Given the description of an element on the screen output the (x, y) to click on. 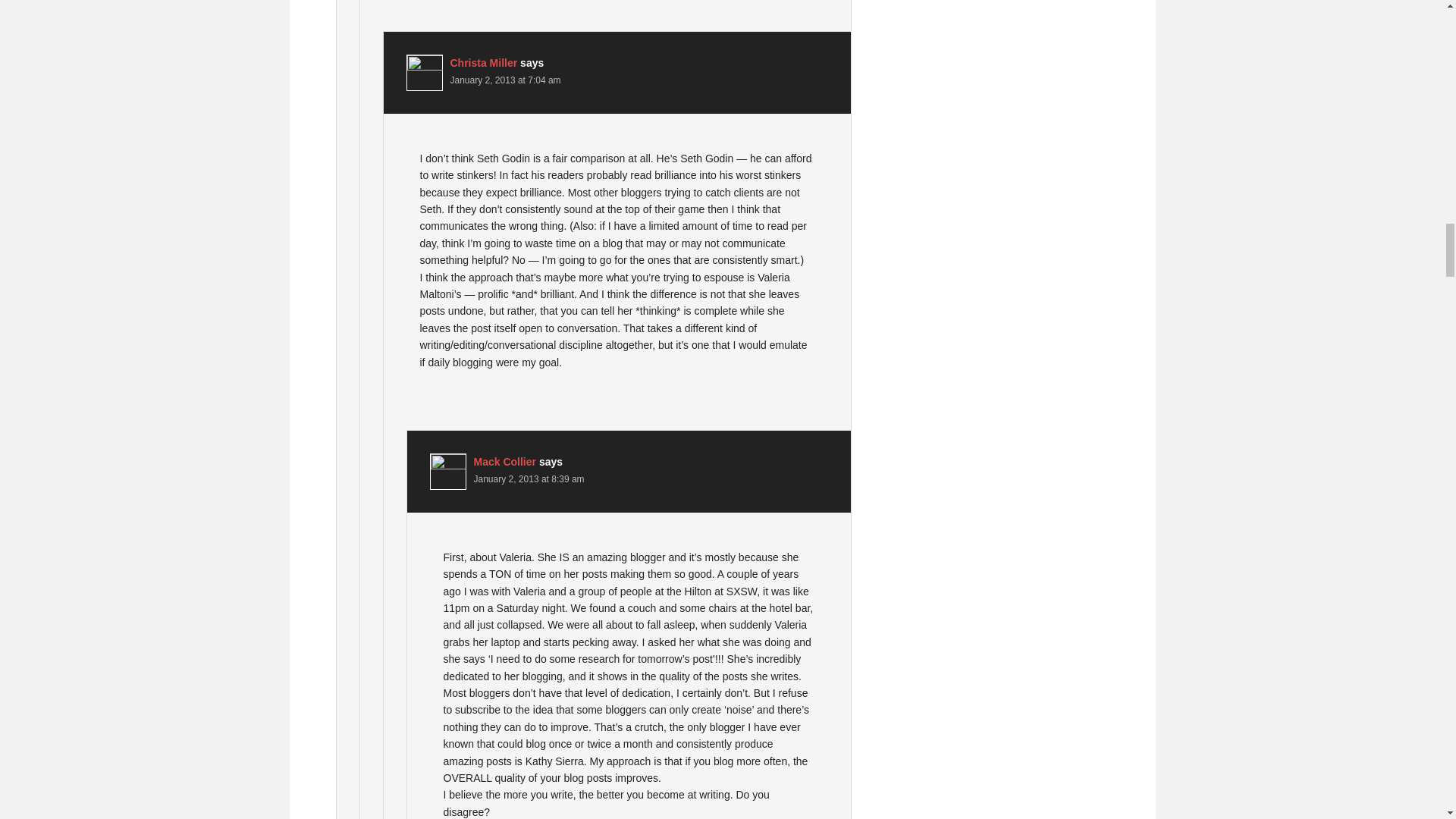
Christa Miller (483, 62)
Mack Collier (504, 461)
January 2, 2013 at 8:39 am (528, 479)
January 2, 2013 at 7:04 am (504, 80)
